Given the description of an element on the screen output the (x, y) to click on. 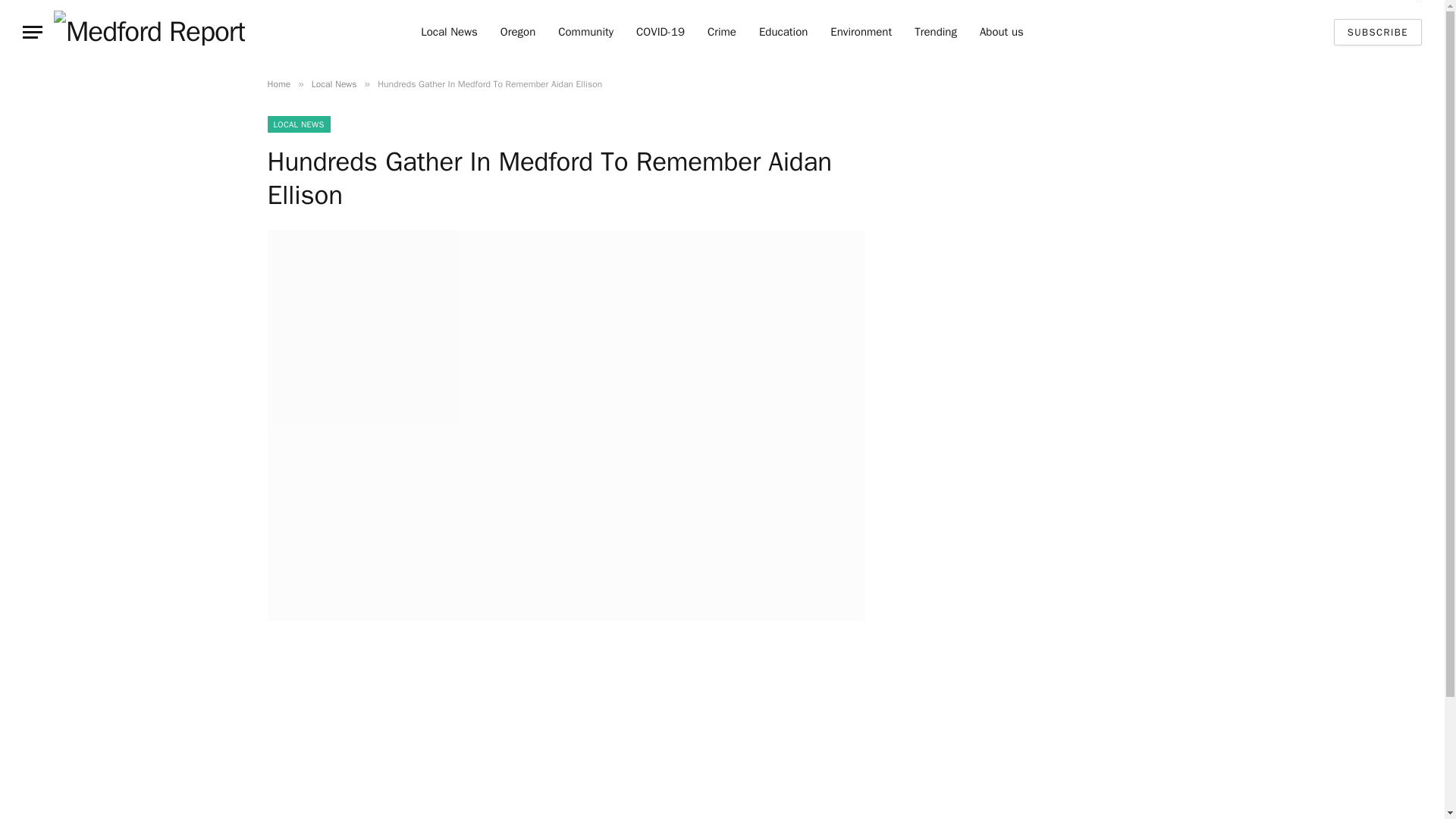
SUBSCRIBE (1377, 31)
Medford Report (148, 31)
About us (1001, 31)
LOCAL NEWS (298, 124)
Local News (333, 83)
COVID-19 (659, 31)
Oregon (518, 31)
Community (585, 31)
Trending (935, 31)
